Given the description of an element on the screen output the (x, y) to click on. 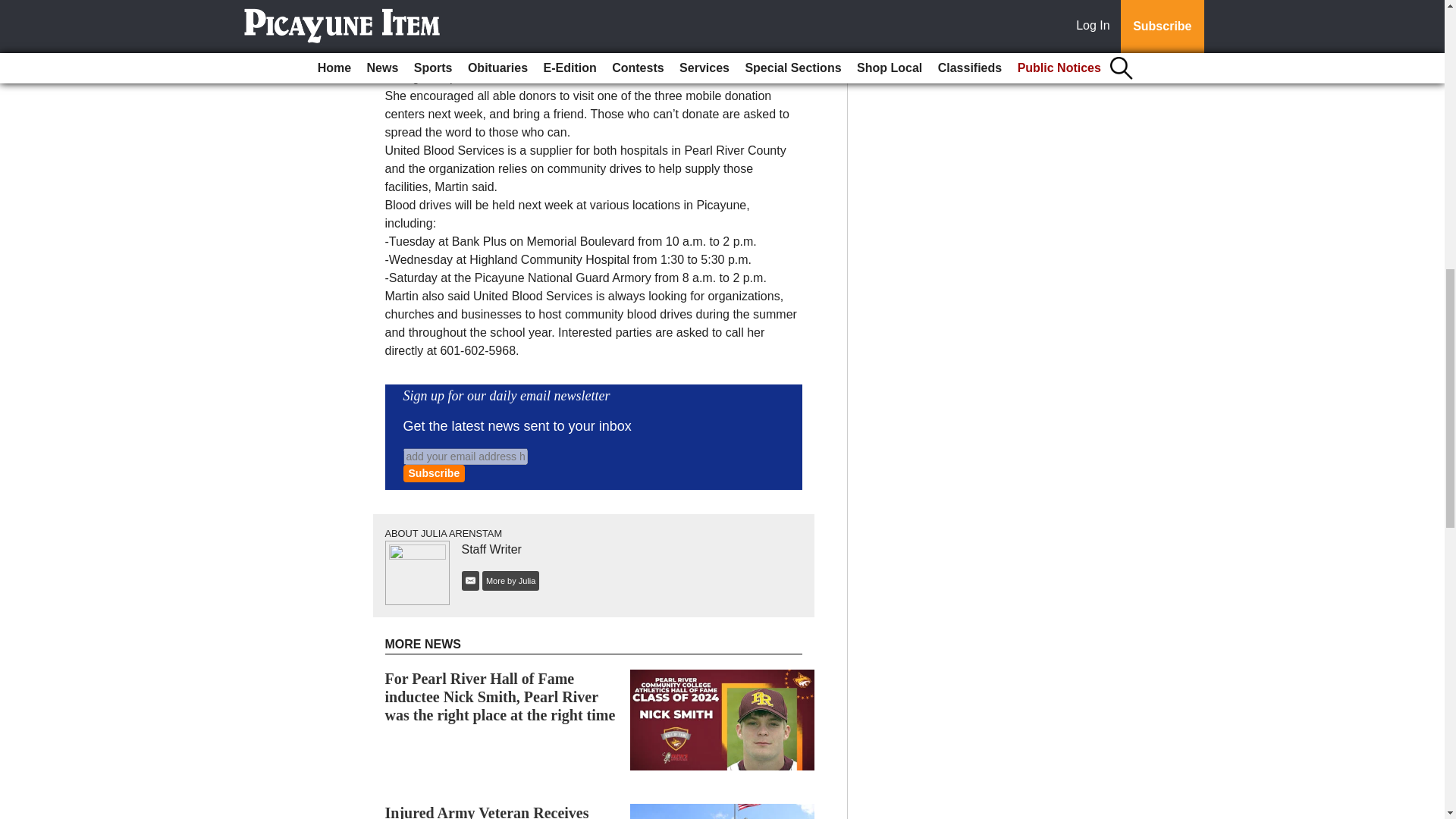
Subscribe (434, 473)
More by Julia (509, 580)
Subscribe (434, 473)
